Given the description of an element on the screen output the (x, y) to click on. 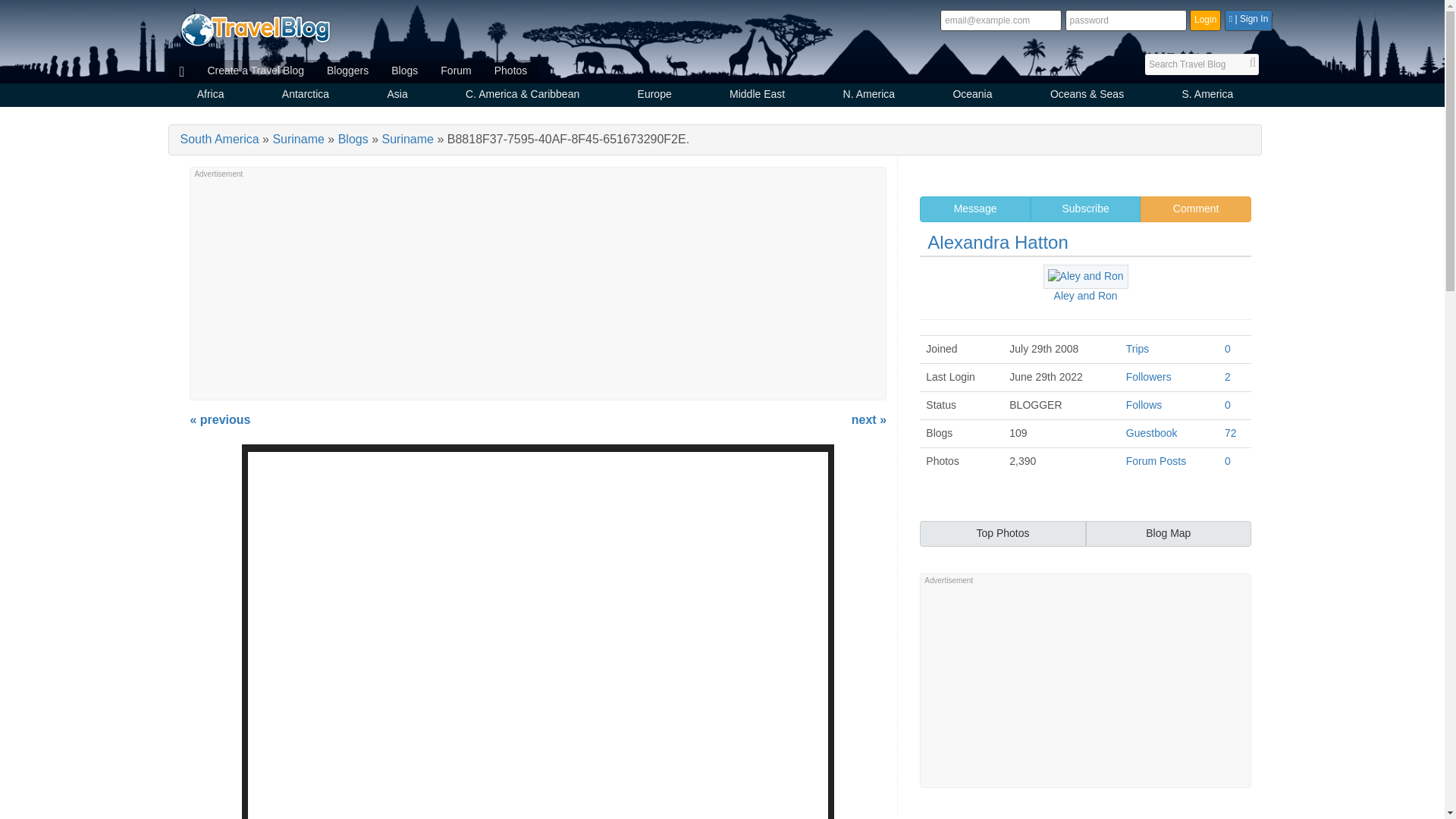
Africa (210, 95)
Photos (510, 71)
N. America (868, 95)
Forum (455, 71)
Login (1205, 20)
Create a Travel Blog (255, 71)
Bloggers (347, 71)
Europe (654, 95)
